Given the description of an element on the screen output the (x, y) to click on. 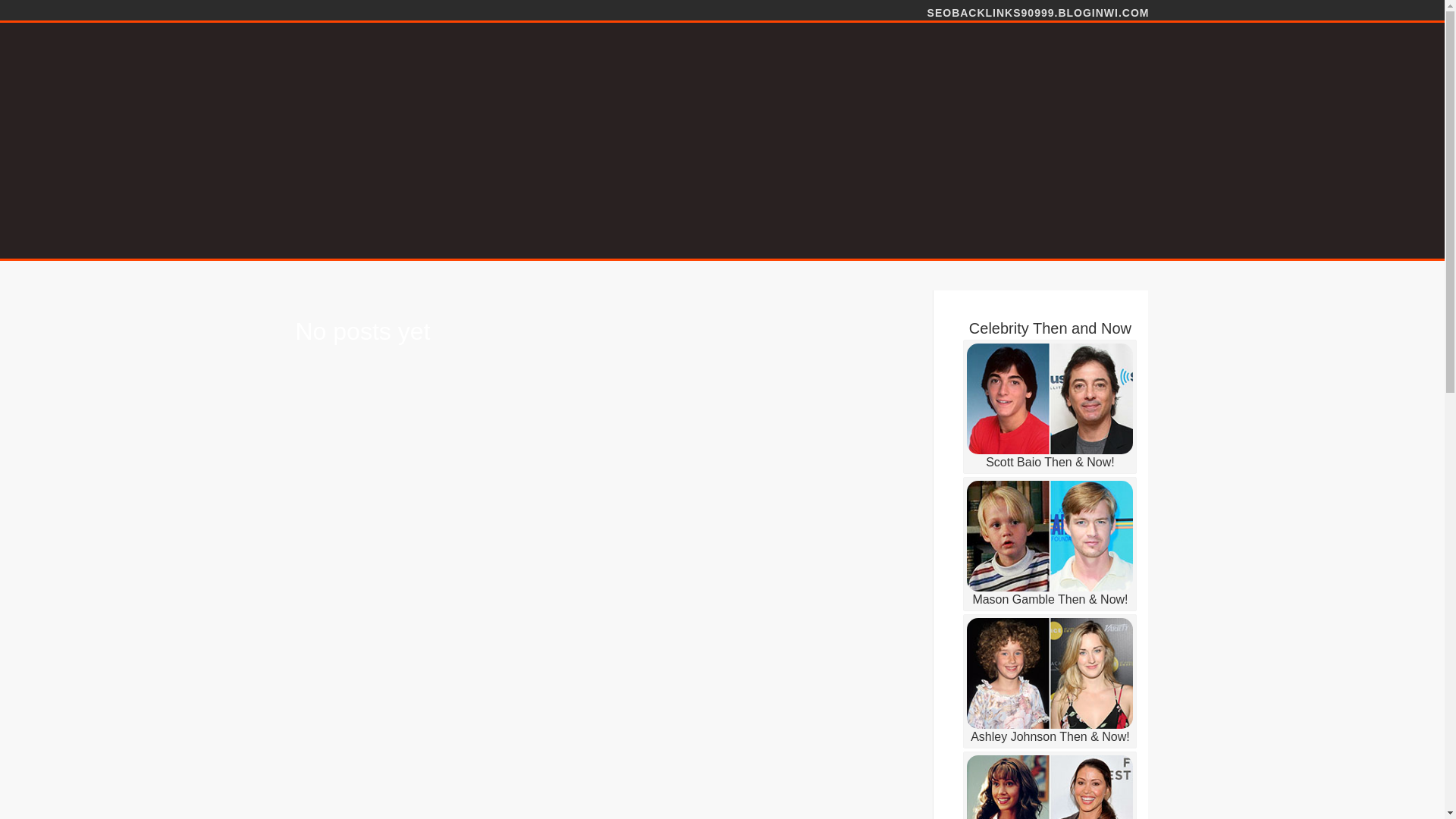
Skip to content (45, 7)
SEOBACKLINKS90999.BLOGINWI.COM (1038, 11)
